Given the description of an element on the screen output the (x, y) to click on. 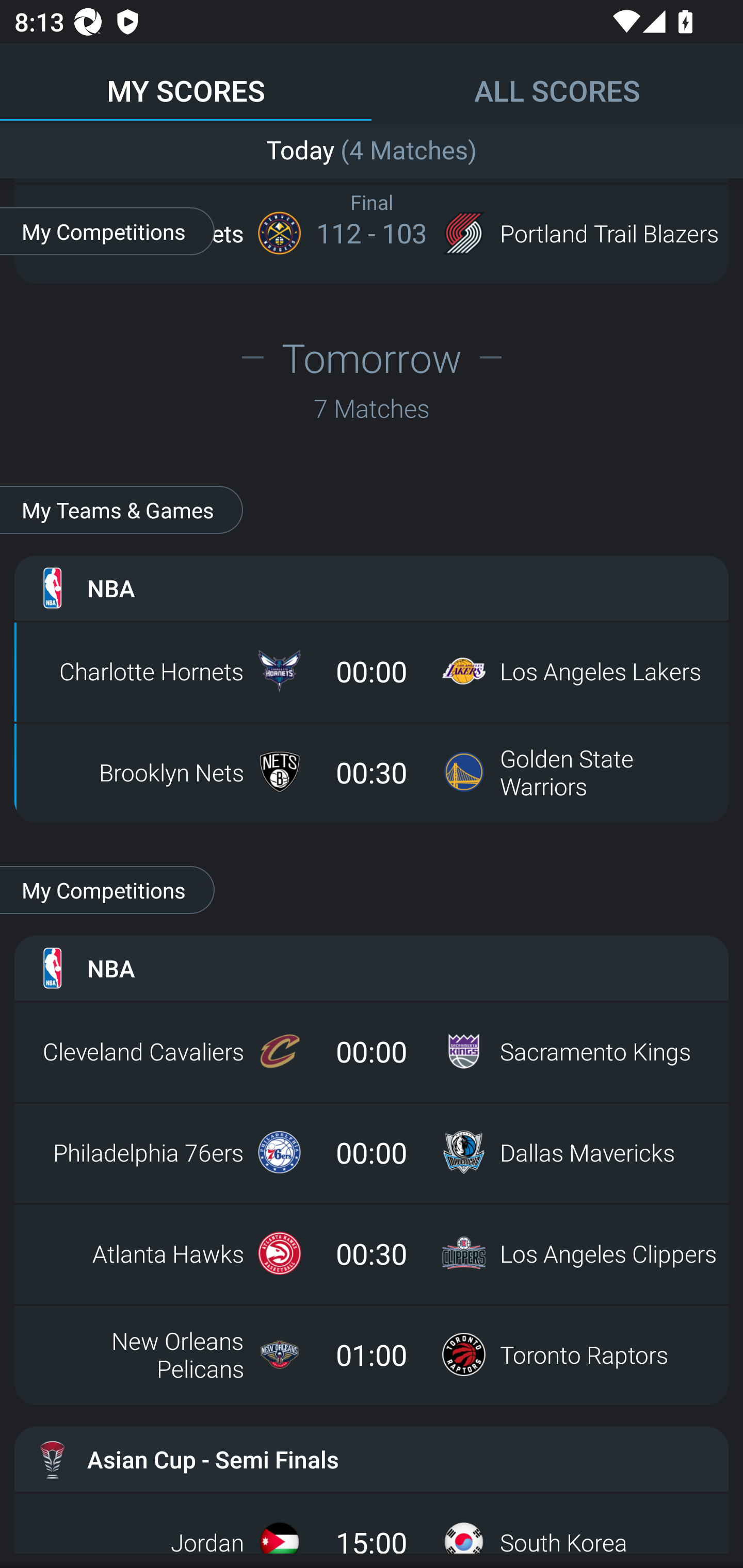
MY SCORES (185, 81)
ALL SCORES (557, 81)
Utah Jazz 123 - 108 Milwaukee Bucks (371, 150)
NBA (371, 587)
Charlotte Hornets 00:00 Los Angeles Lakers (371, 670)
Brooklyn Nets 00:30 Golden State Warriors (371, 772)
NBA (371, 968)
Cleveland Cavaliers 00:00 Sacramento Kings (371, 1051)
Philadelphia 76ers 00:00 Dallas Mavericks (371, 1152)
Atlanta Hawks 00:30 Los Angeles Clippers (371, 1253)
New Orleans Pelicans 01:00 Toronto Raptors (371, 1354)
Asian Cup - Semi Finals (371, 1458)
Jordan 15:00 South Korea (371, 1522)
